Given the description of an element on the screen output the (x, y) to click on. 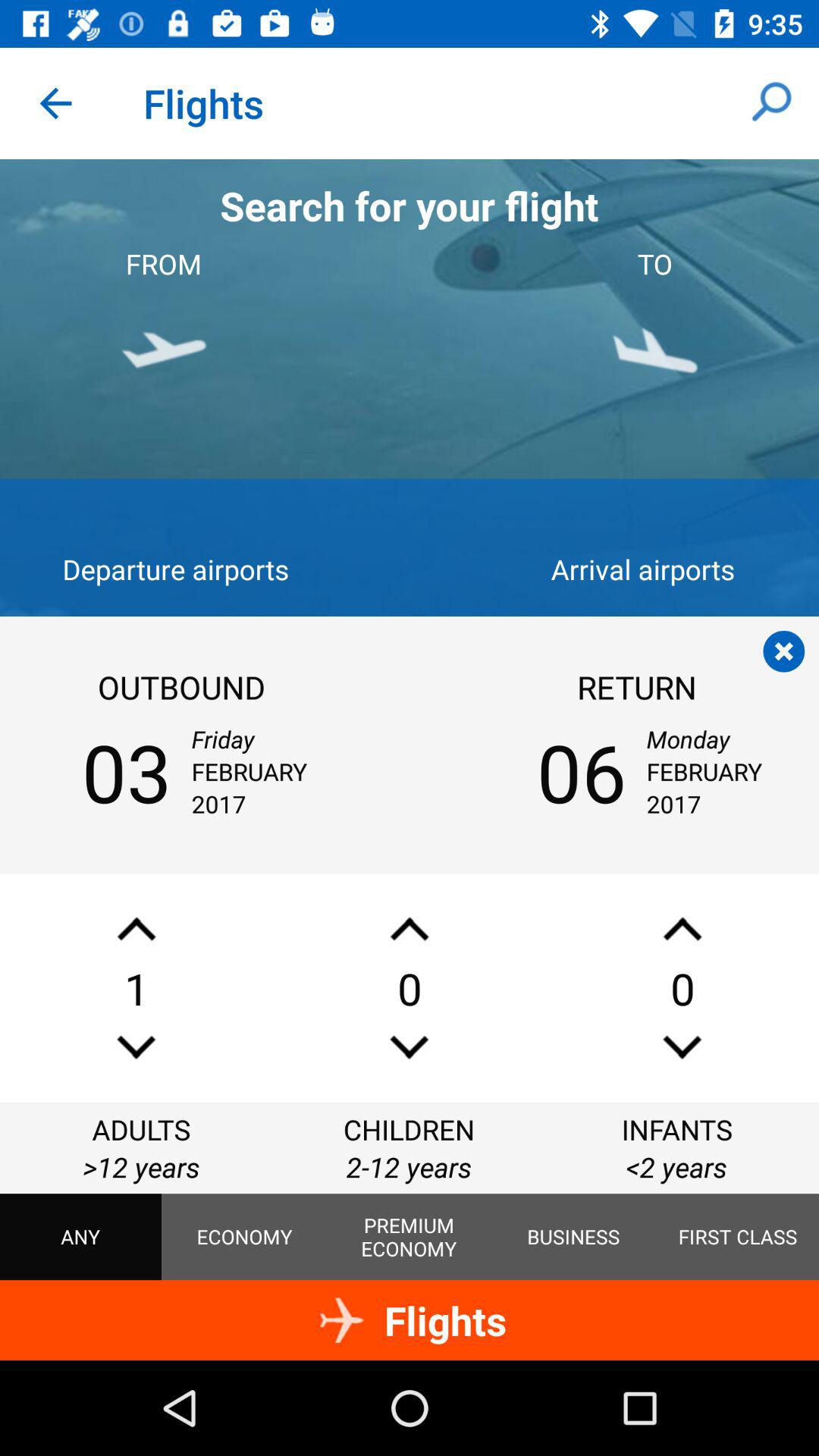
tap item to the left of first class (573, 1236)
